Given the description of an element on the screen output the (x, y) to click on. 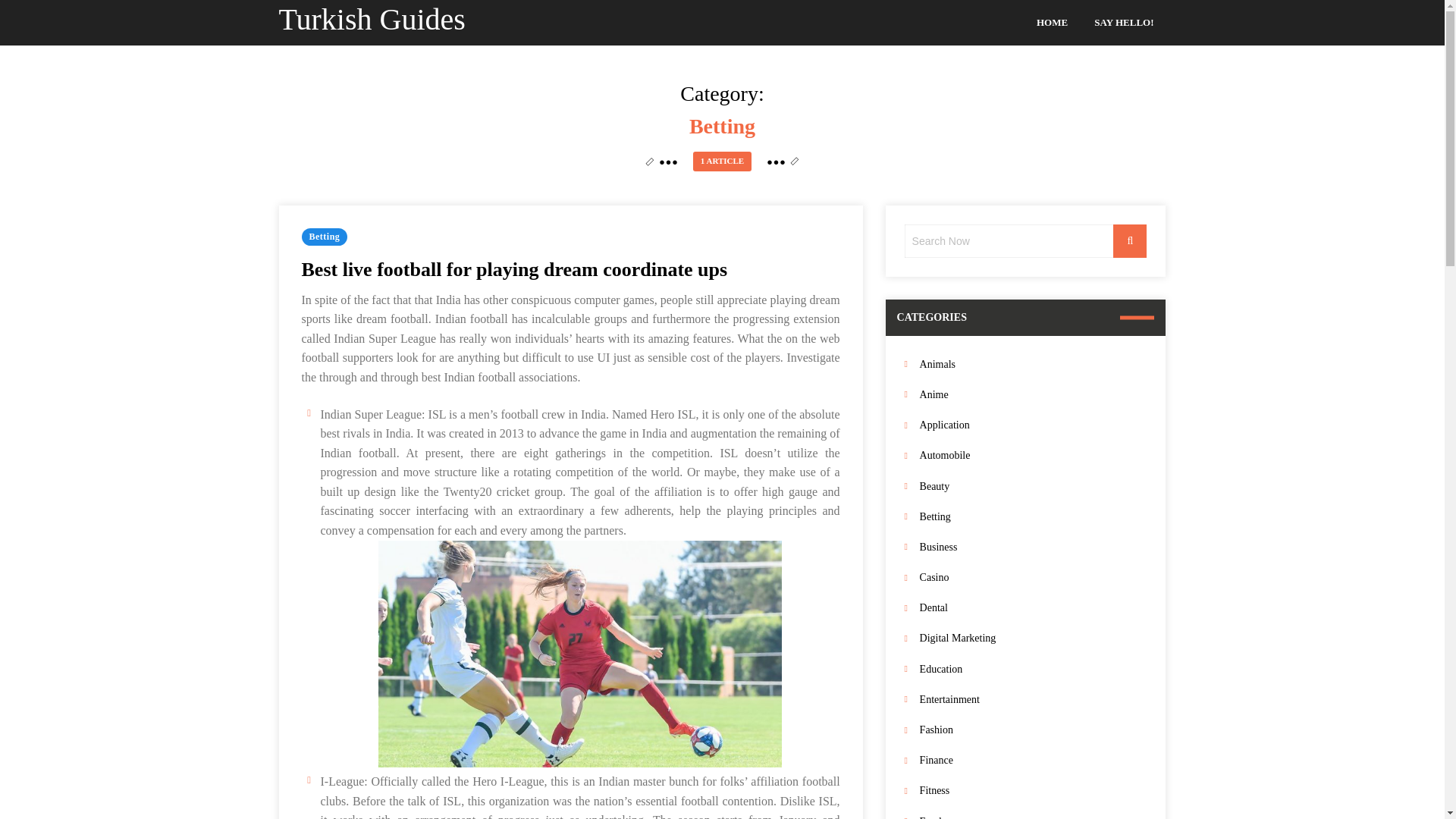
Beauty (1033, 485)
Education (1033, 669)
Food (1033, 815)
Finance (1033, 760)
Anime (1033, 394)
Fitness (1033, 790)
Best live football for playing dream coordinate ups (514, 269)
Digital Marketing (1033, 637)
Search (1130, 240)
Application (1033, 424)
